Given the description of an element on the screen output the (x, y) to click on. 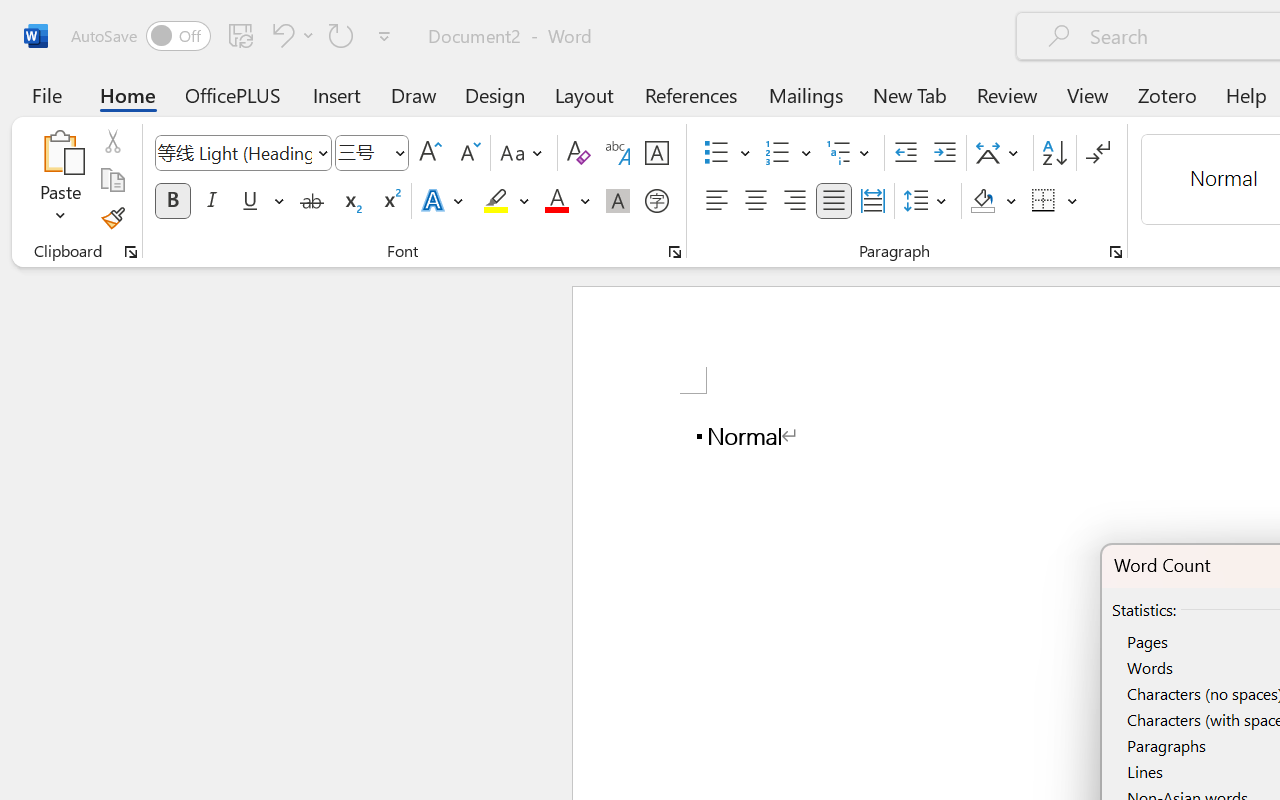
More Options (1073, 201)
Draw (413, 94)
Font Size (372, 153)
Enclose Characters... (656, 201)
Font Color Red (556, 201)
Grow Font (430, 153)
Shading (993, 201)
Text Highlight Color (506, 201)
Text Highlight Color Yellow (495, 201)
New Tab (909, 94)
Numbering (788, 153)
Font (242, 153)
Numbering (778, 153)
Repeat Doc Close (341, 35)
